Given the description of an element on the screen output the (x, y) to click on. 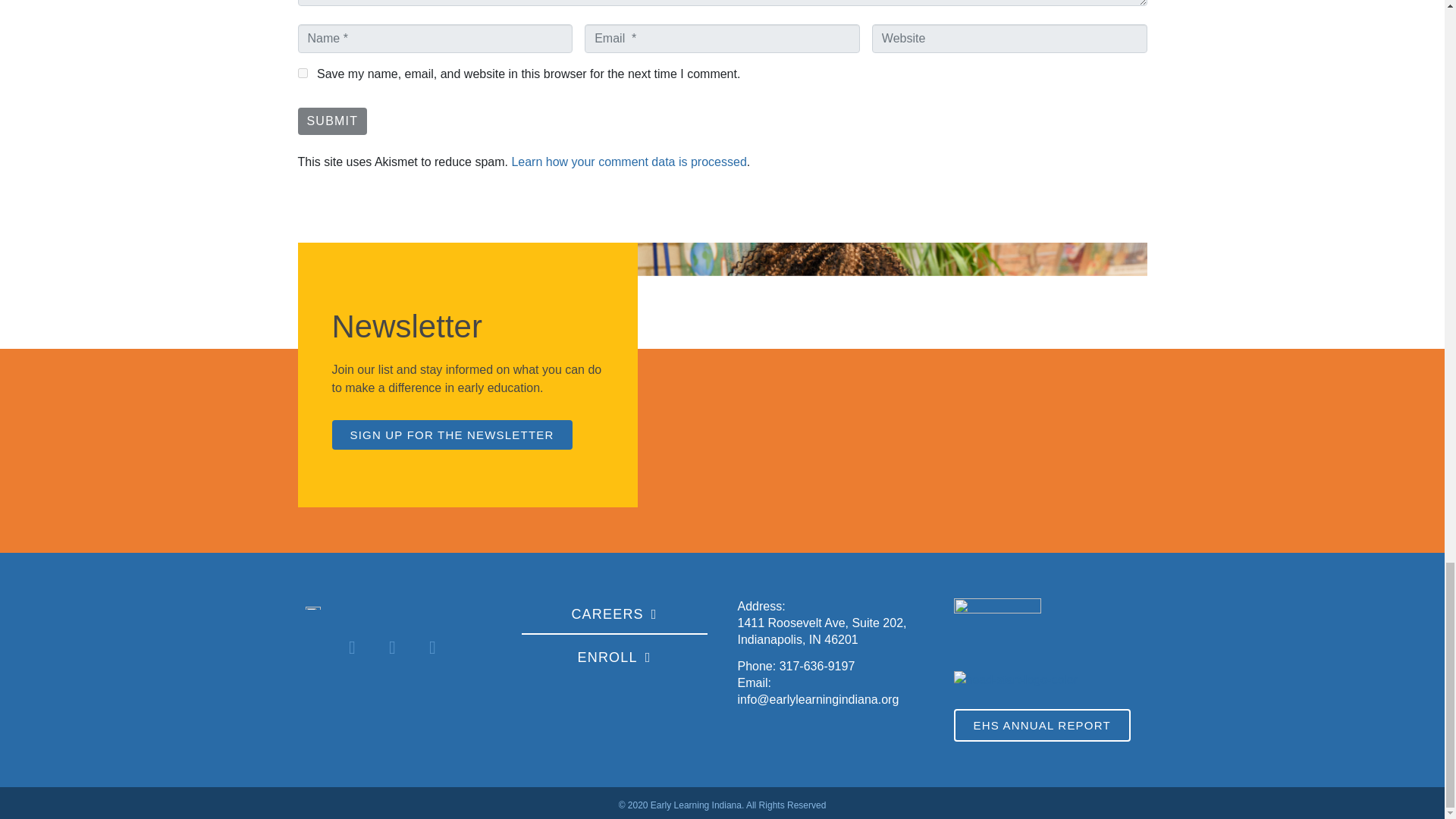
yes (302, 72)
head-start-logo-color (1015, 679)
